Given the description of an element on the screen output the (x, y) to click on. 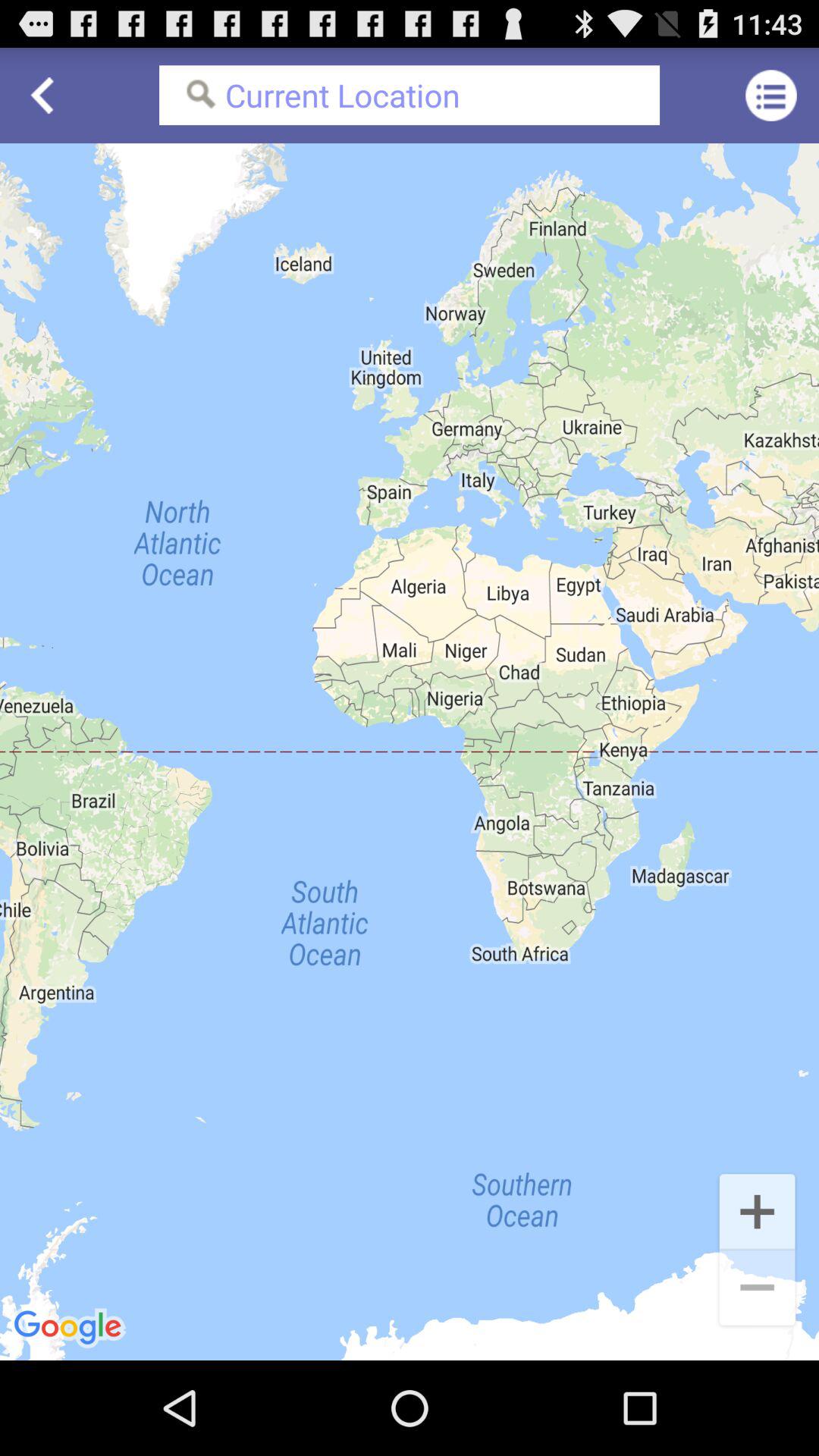
select icon to the right of current location icon (771, 95)
